Given the description of an element on the screen output the (x, y) to click on. 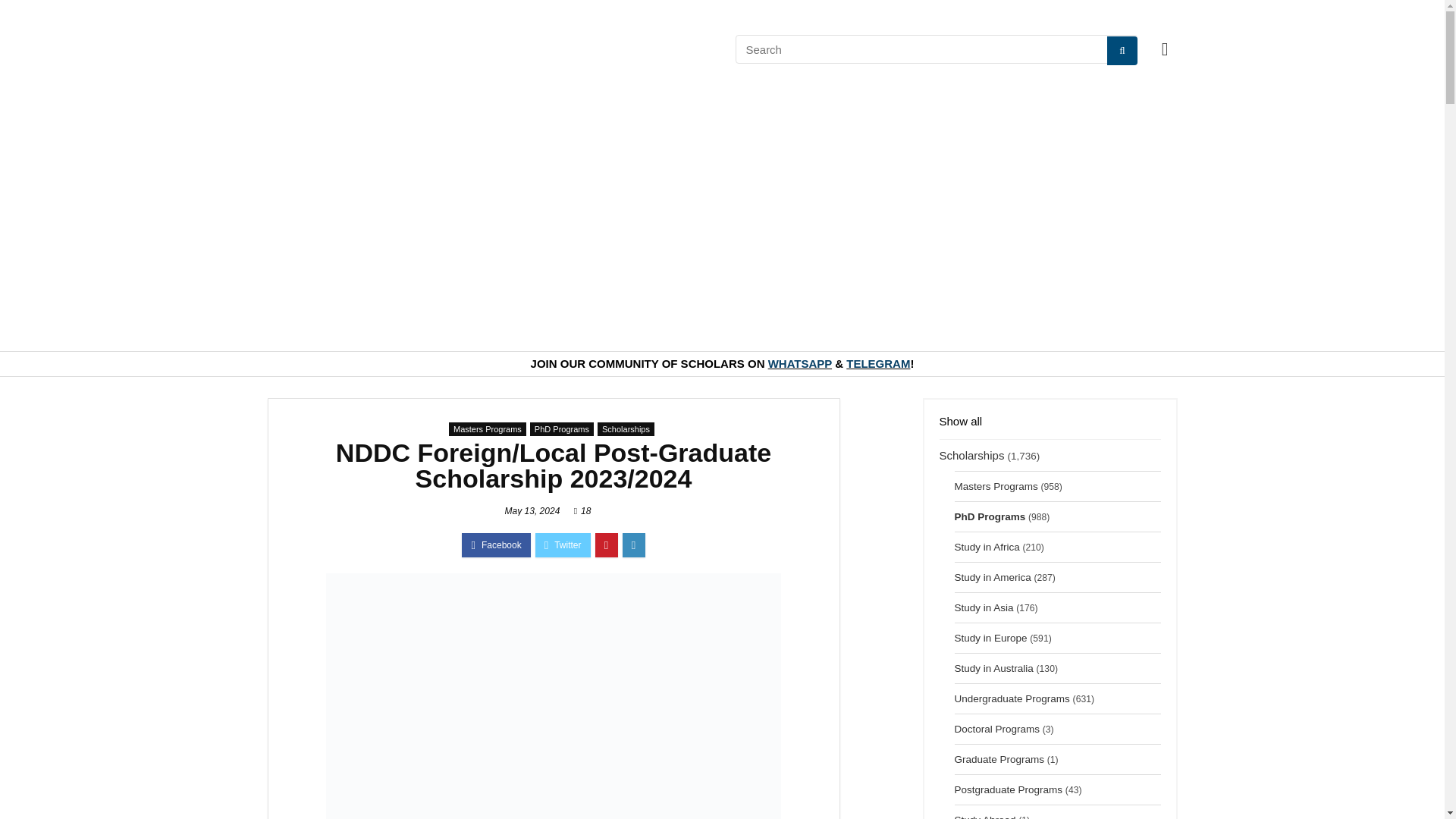
PhD Programs (561, 427)
ABOUT (683, 49)
View all posts in Scholarships (624, 427)
DEADLINES (548, 49)
View all posts in PhD Programs (561, 427)
View all posts in Masters Programs (486, 427)
LATEST (392, 49)
TELEGRAM (877, 363)
Masters Programs (486, 427)
WHATSAPP (799, 363)
BLOG (620, 49)
Scholarships (624, 427)
FILTER (466, 49)
